Given the description of an element on the screen output the (x, y) to click on. 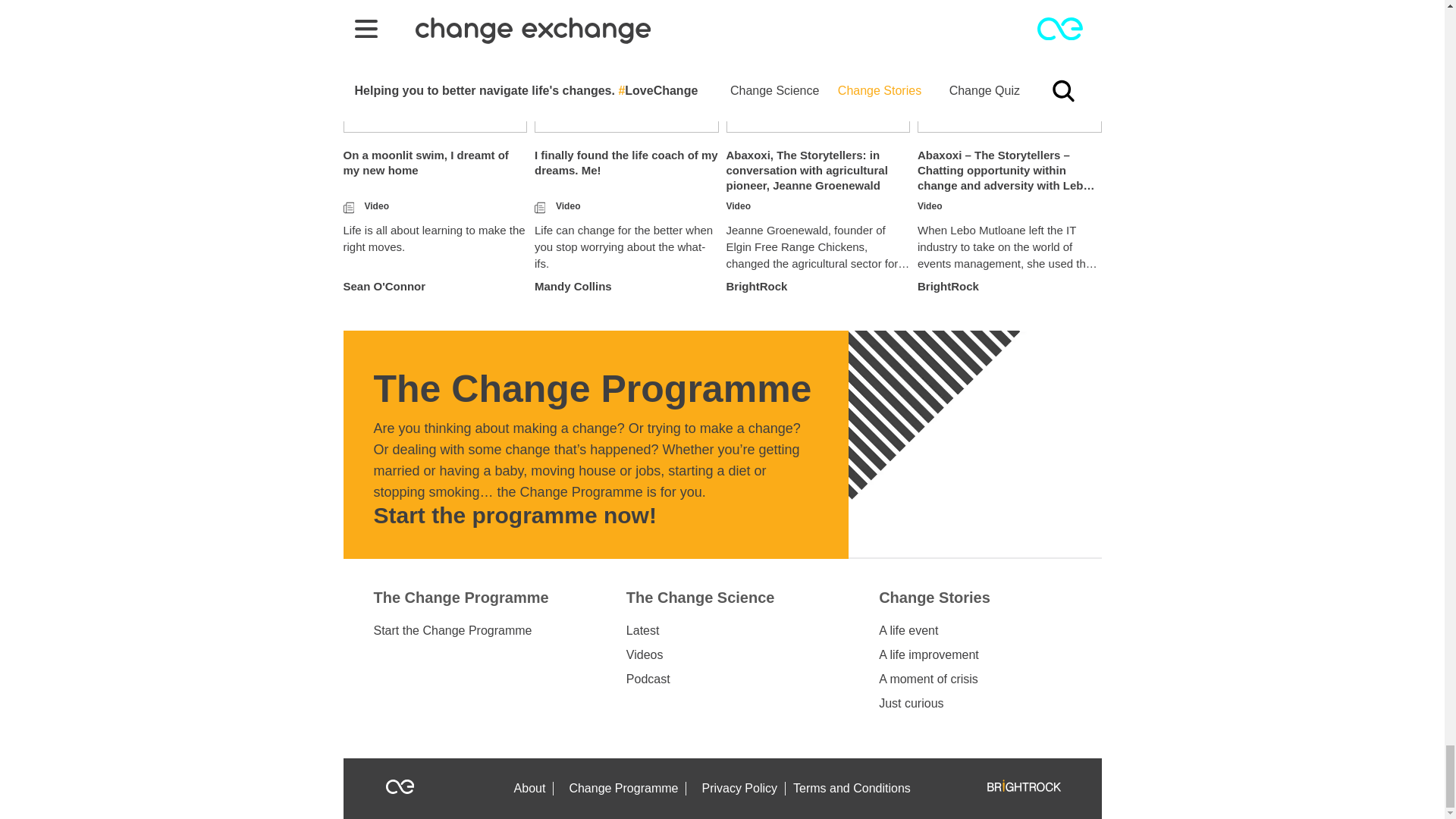
Terms and Conditions (855, 788)
Just curious (911, 703)
Change Programme (622, 788)
A moment of crisis (928, 679)
Latest (642, 630)
Start the Change Programme (451, 630)
Videos (644, 654)
About (530, 788)
Podcast (647, 679)
A life event (908, 630)
